Given the description of an element on the screen output the (x, y) to click on. 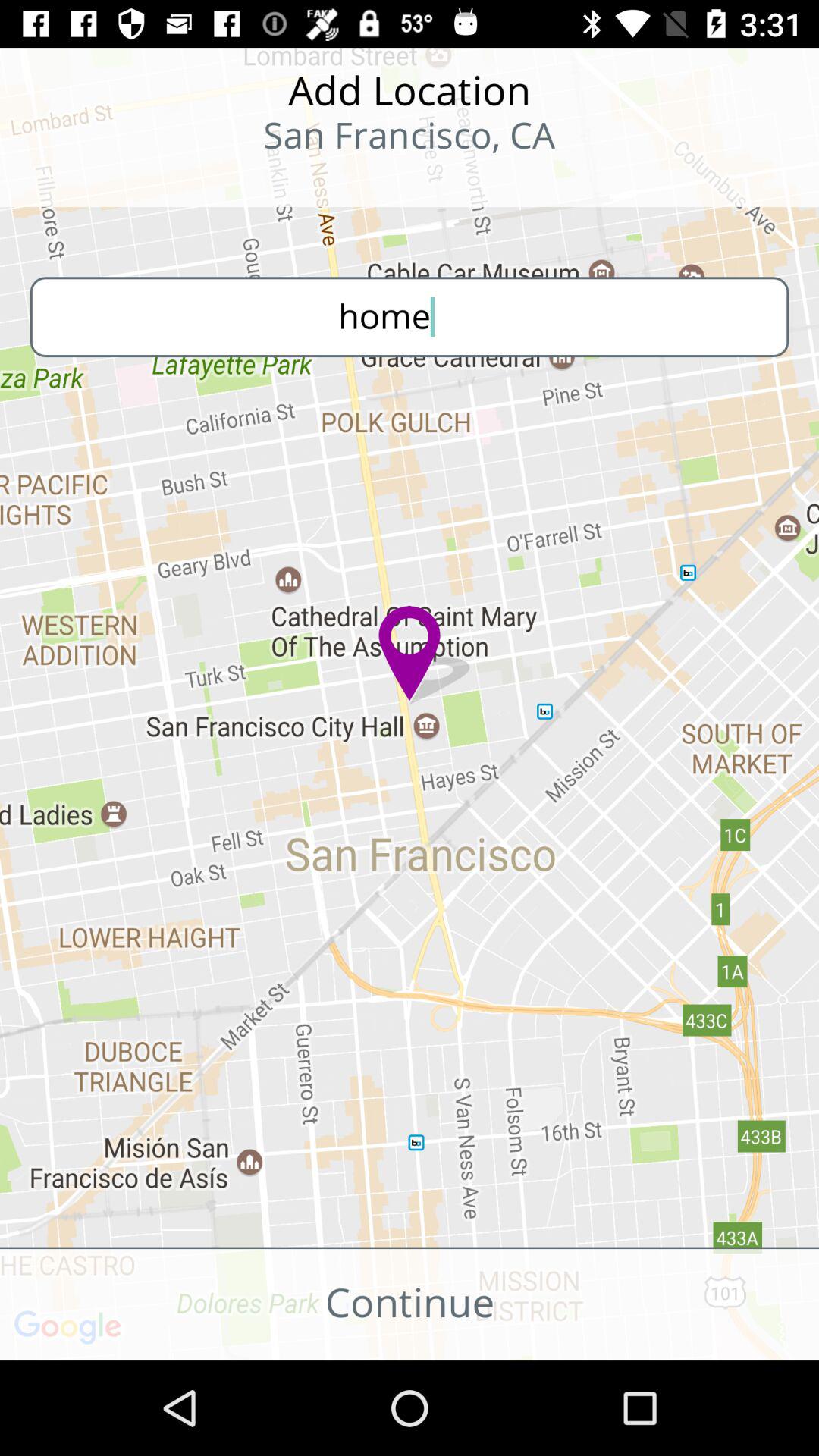
set your location (99, 182)
